Given the description of an element on the screen output the (x, y) to click on. 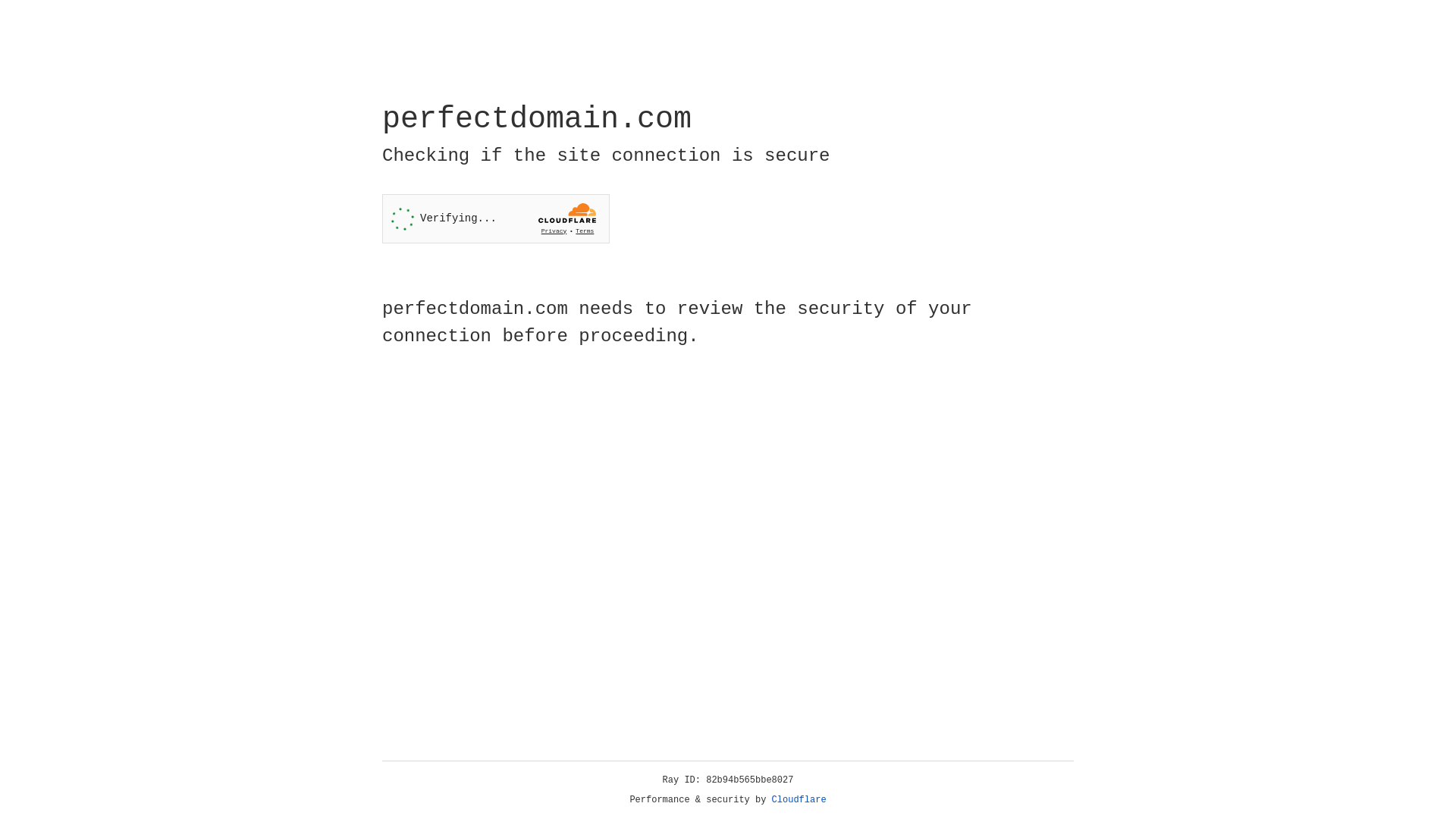
Cloudflare Element type: text (798, 799)
Widget containing a Cloudflare security challenge Element type: hover (495, 218)
